Given the description of an element on the screen output the (x, y) to click on. 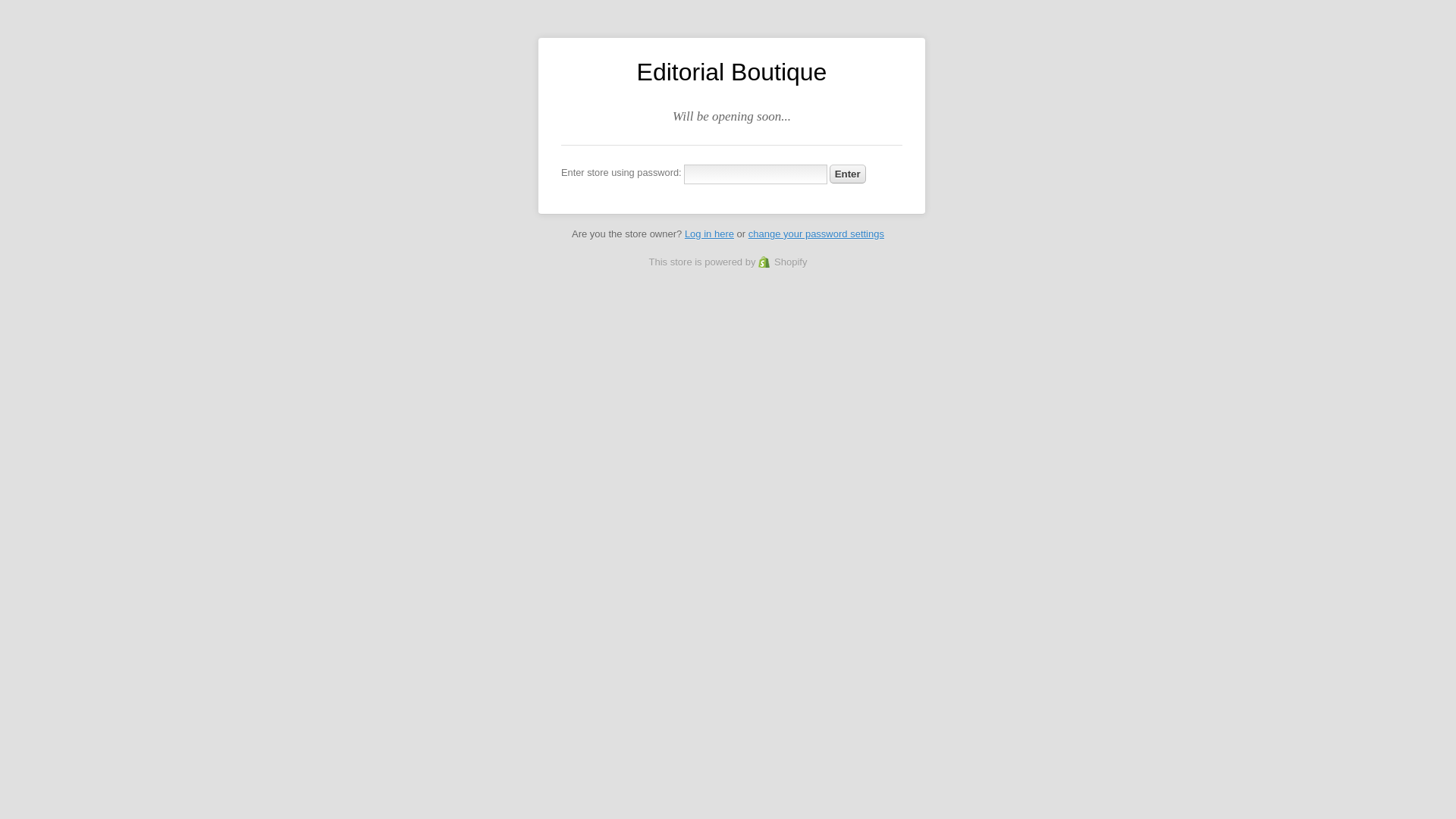
Enter (847, 173)
Enter (847, 173)
